Given the description of an element on the screen output the (x, y) to click on. 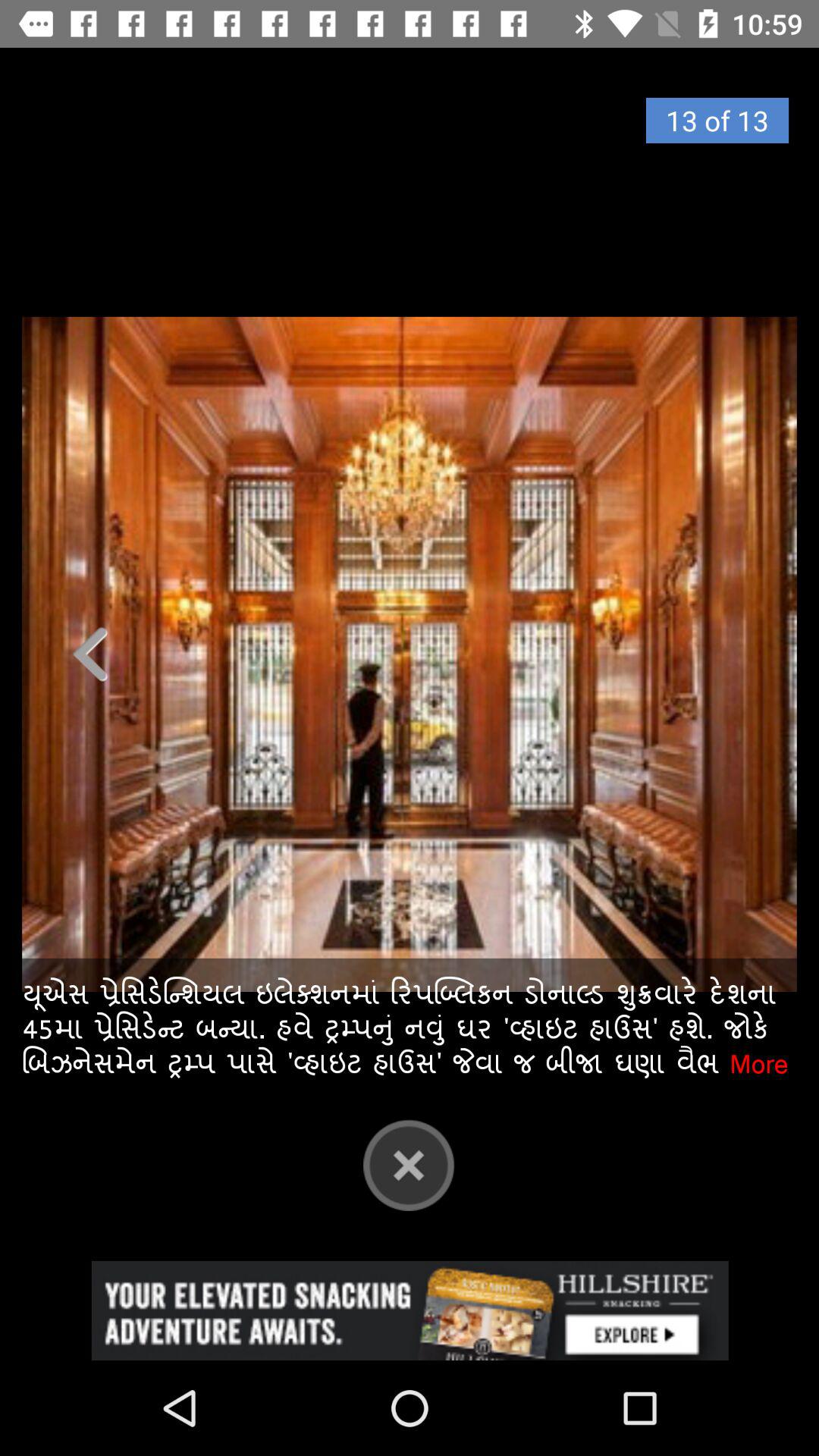
open advertisement (409, 1310)
